Given the description of an element on the screen output the (x, y) to click on. 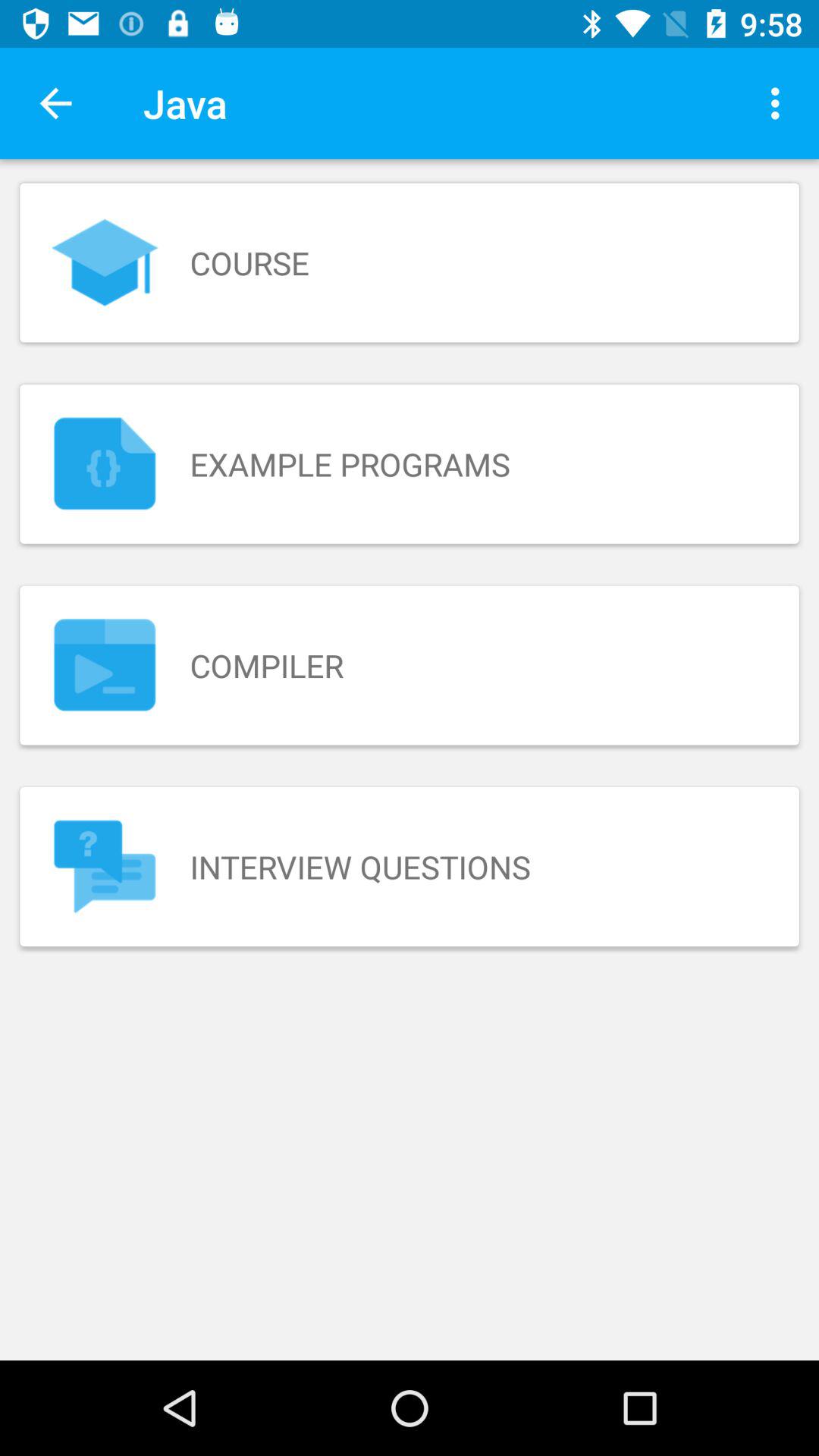
turn off the item to the right of java icon (779, 103)
